Given the description of an element on the screen output the (x, y) to click on. 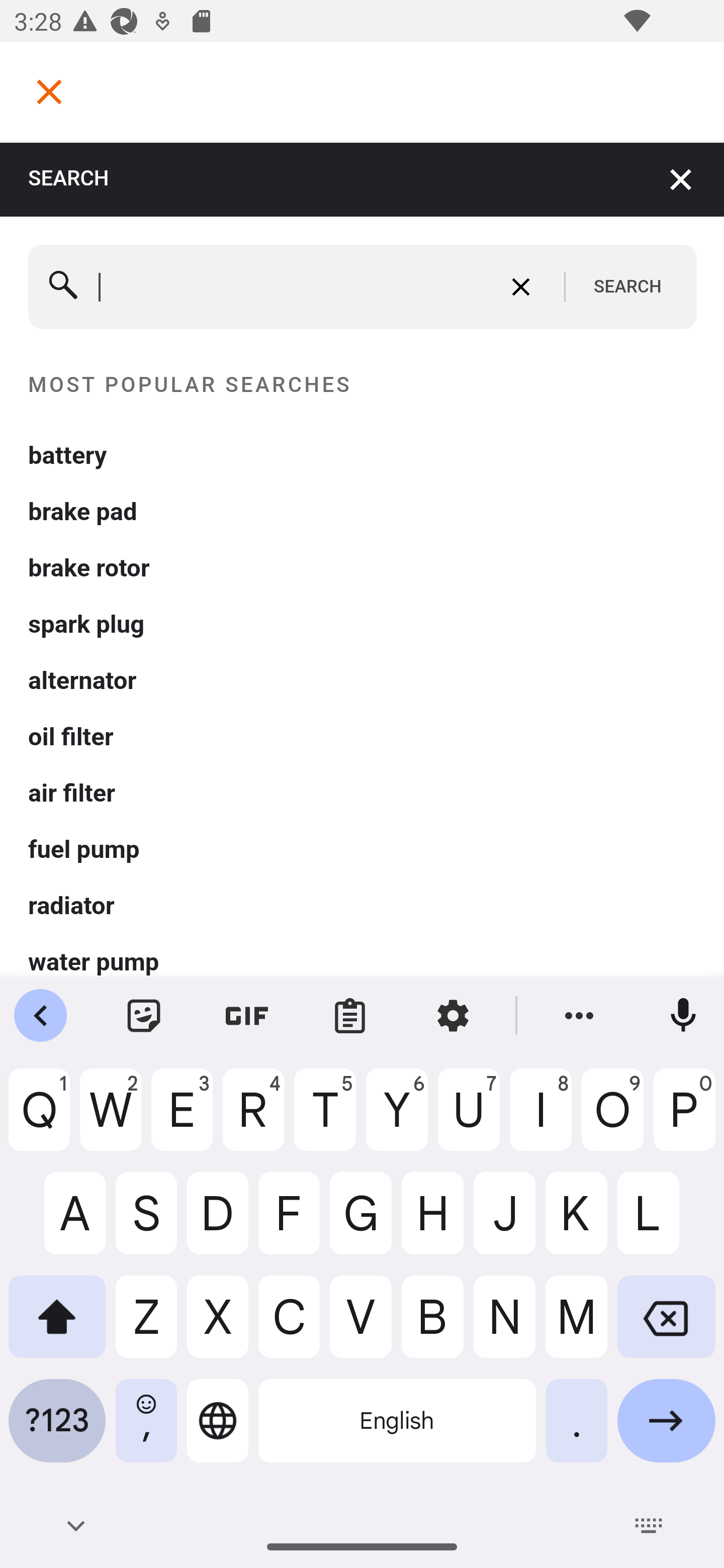
 (49, 91)
Search banner landmark close (681, 179)
Search (63, 287)
Clear (520, 286)
SEARCH (627, 287)
battery (363, 455)
brake pad (363, 511)
brake rotor (363, 568)
spark plug (363, 624)
alternator (363, 680)
oil filter (363, 736)
air filter (363, 793)
fuel pump (363, 848)
radiator (363, 905)
water pump (363, 961)
